Given the description of an element on the screen output the (x, y) to click on. 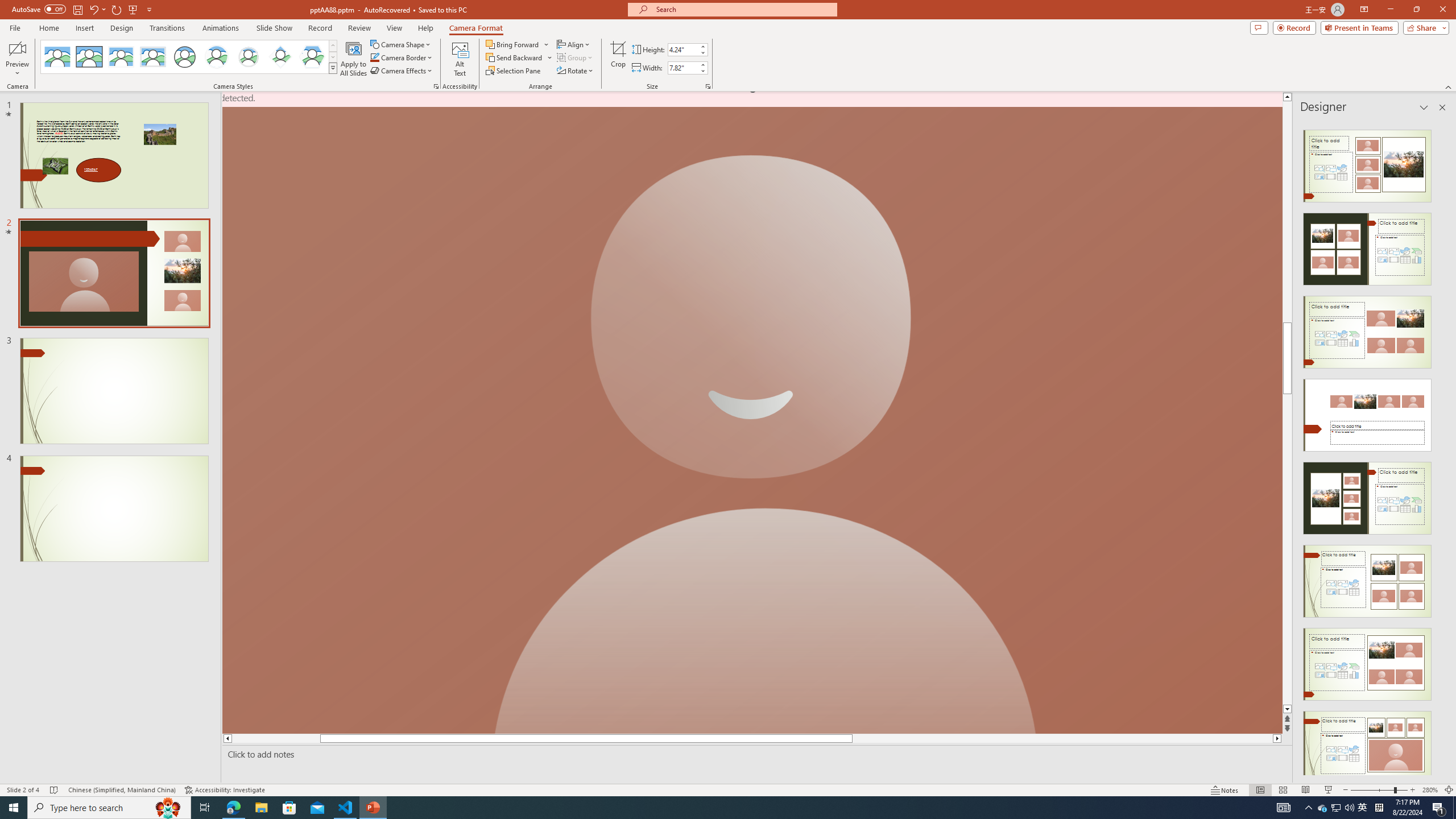
Decorative Locked (752, 412)
Group (575, 56)
No Style (57, 56)
